Given the description of an element on the screen output the (x, y) to click on. 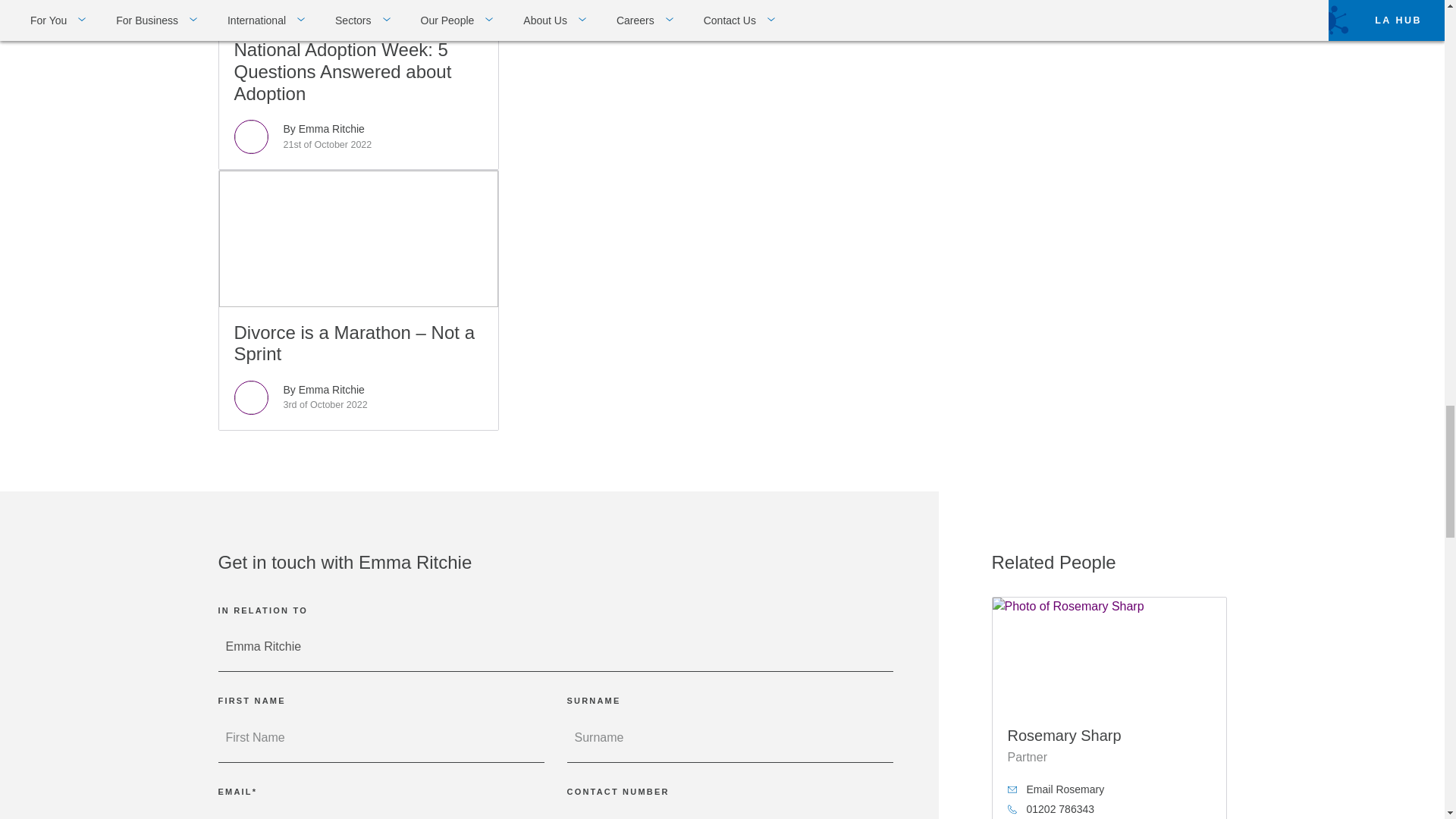
National Adoption Week: 5 Questions Answered about Adoption (357, 84)
Call Rosemary Sharp (1108, 809)
Email Rosemary Sharp (1108, 789)
Rosemary Sharp (1064, 735)
Rosemary Sharp (1108, 654)
Emma Ritchie (555, 646)
